Given the description of an element on the screen output the (x, y) to click on. 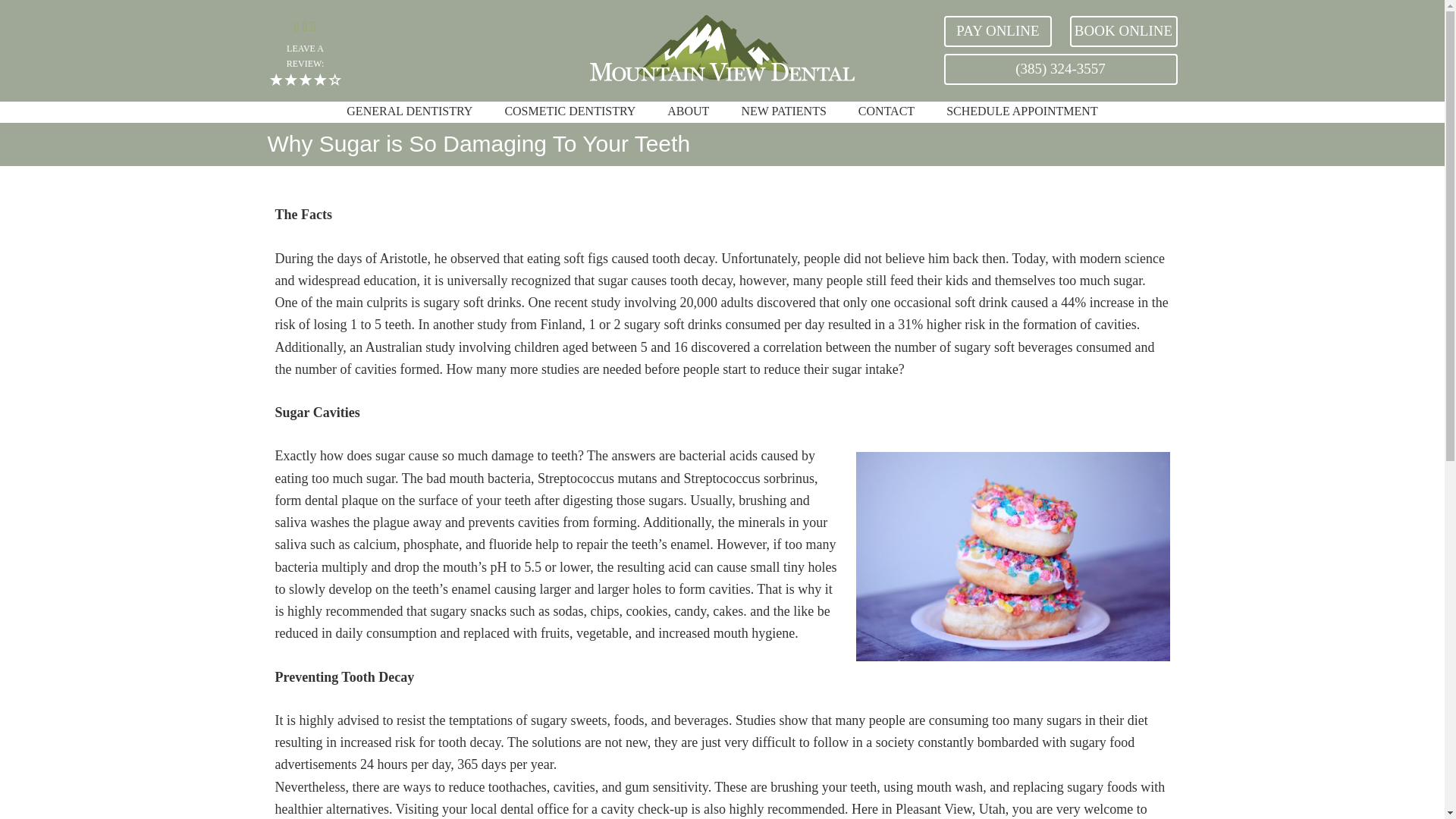
PAY ONLINE (997, 30)
COSMETIC DENTISTRY (569, 111)
GENERAL DENTISTRY (408, 111)
NEW PATIENTS (783, 111)
BOOK ONLINE (1122, 30)
CONTACT (886, 111)
SCHEDULE APPOINTMENT (1021, 111)
ABOUT (687, 111)
Review Stars (304, 79)
Why Sugar Is So Damaging To Your Teeth (1012, 556)
